Given the description of an element on the screen output the (x, y) to click on. 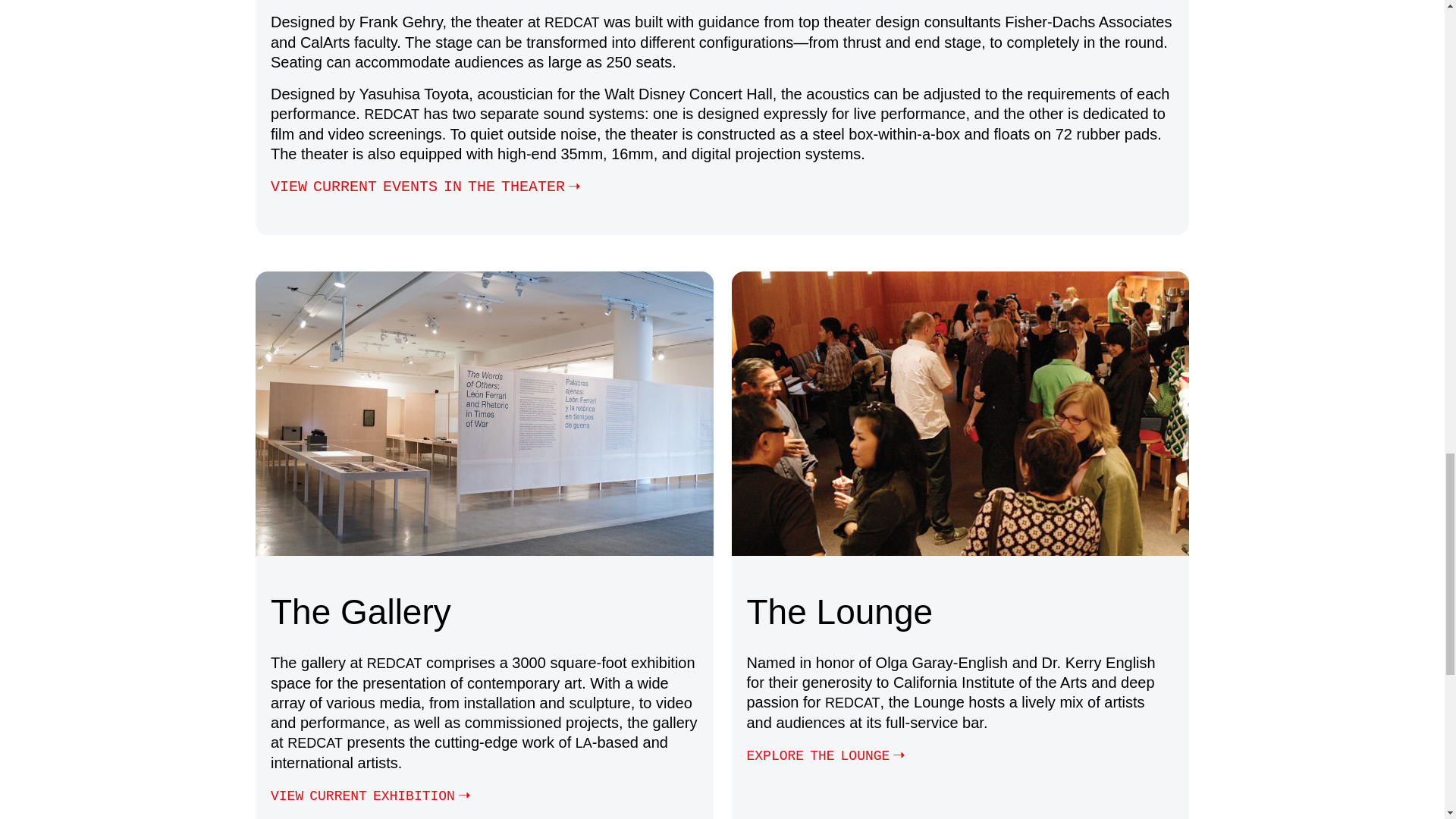
EXPLORE THE LOUNGE (827, 755)
VIEW CURRENT EVENTS IN THE THEATER (427, 186)
REDCAT Lounge (827, 755)
VIEW CURRENT EXHIBITION (373, 795)
